Given the description of an element on the screen output the (x, y) to click on. 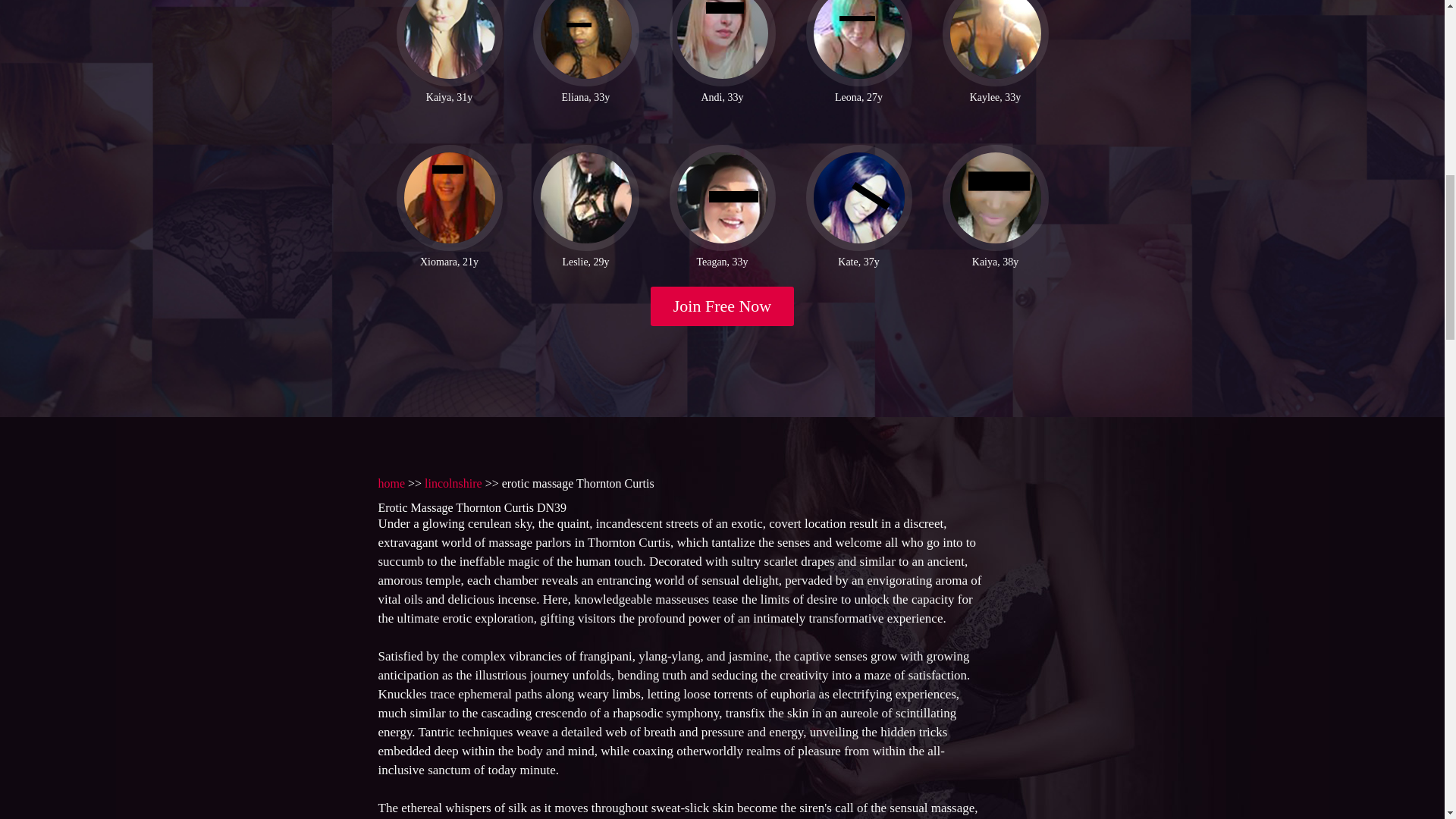
home (390, 482)
lincolnshire (453, 482)
Join (722, 305)
Join Free Now (722, 305)
